Given the description of an element on the screen output the (x, y) to click on. 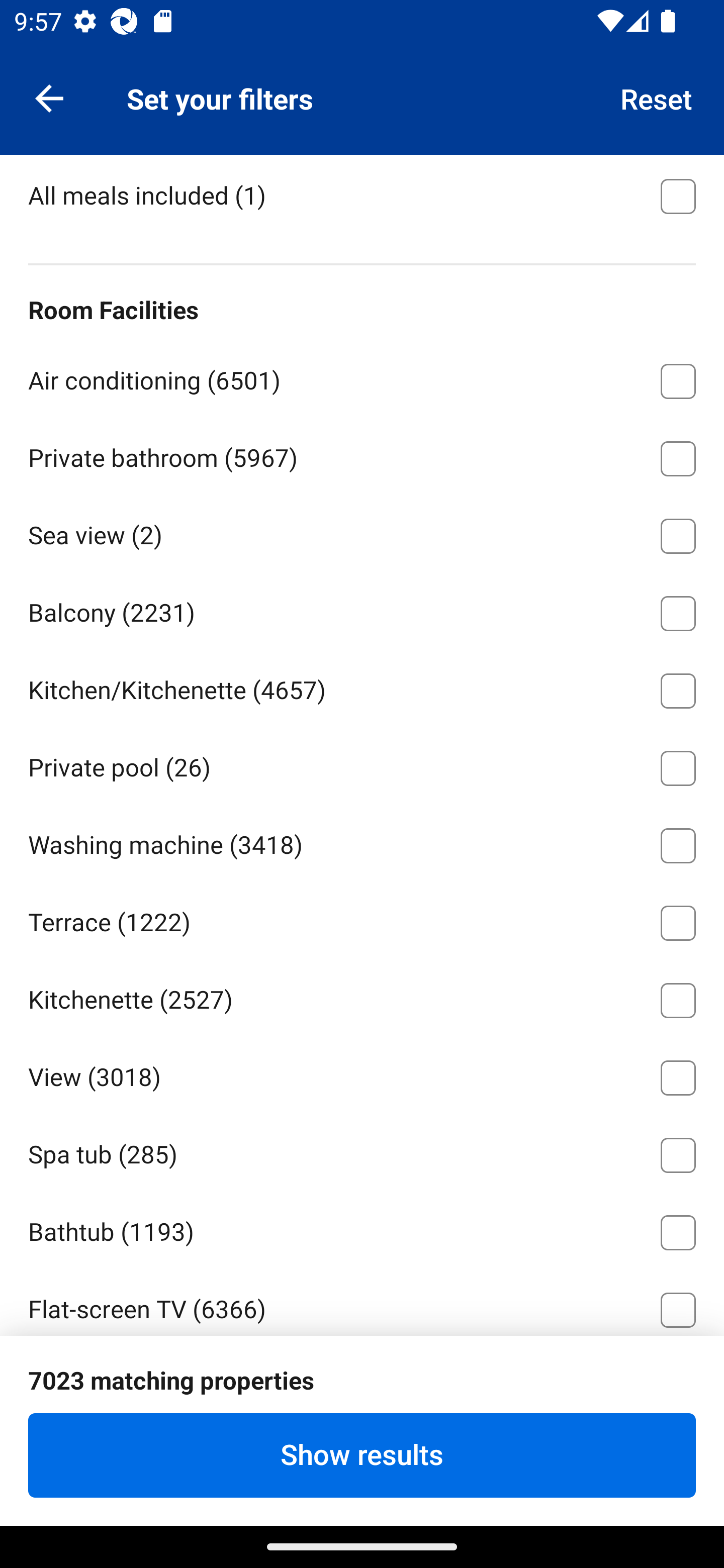
Navigate up (49, 97)
Reset (656, 97)
Kitchen facilities ⁦(4657) (361, 114)
All meals included ⁦(1) (361, 195)
Air conditioning ⁦(6501) (361, 377)
Private bathroom ⁦(5967) (361, 455)
Sea view ⁦(2) (361, 531)
Balcony ⁦(2231) (361, 609)
Kitchen/Kitchenette ⁦(4657) (361, 687)
Private pool ⁦(26) (361, 763)
Washing machine ⁦(3418) (361, 841)
Terrace ⁦(1222) (361, 919)
Kitchenette ⁦(2527) (361, 997)
View ⁦(3018) (361, 1074)
Spa tub ⁦(285) (361, 1151)
Bathtub ⁦(1193) (361, 1229)
Flat-screen TV ⁦(6366) (361, 1301)
Electric kettle ⁦(4305) (361, 1383)
Show results (361, 1454)
